Given the description of an element on the screen output the (x, y) to click on. 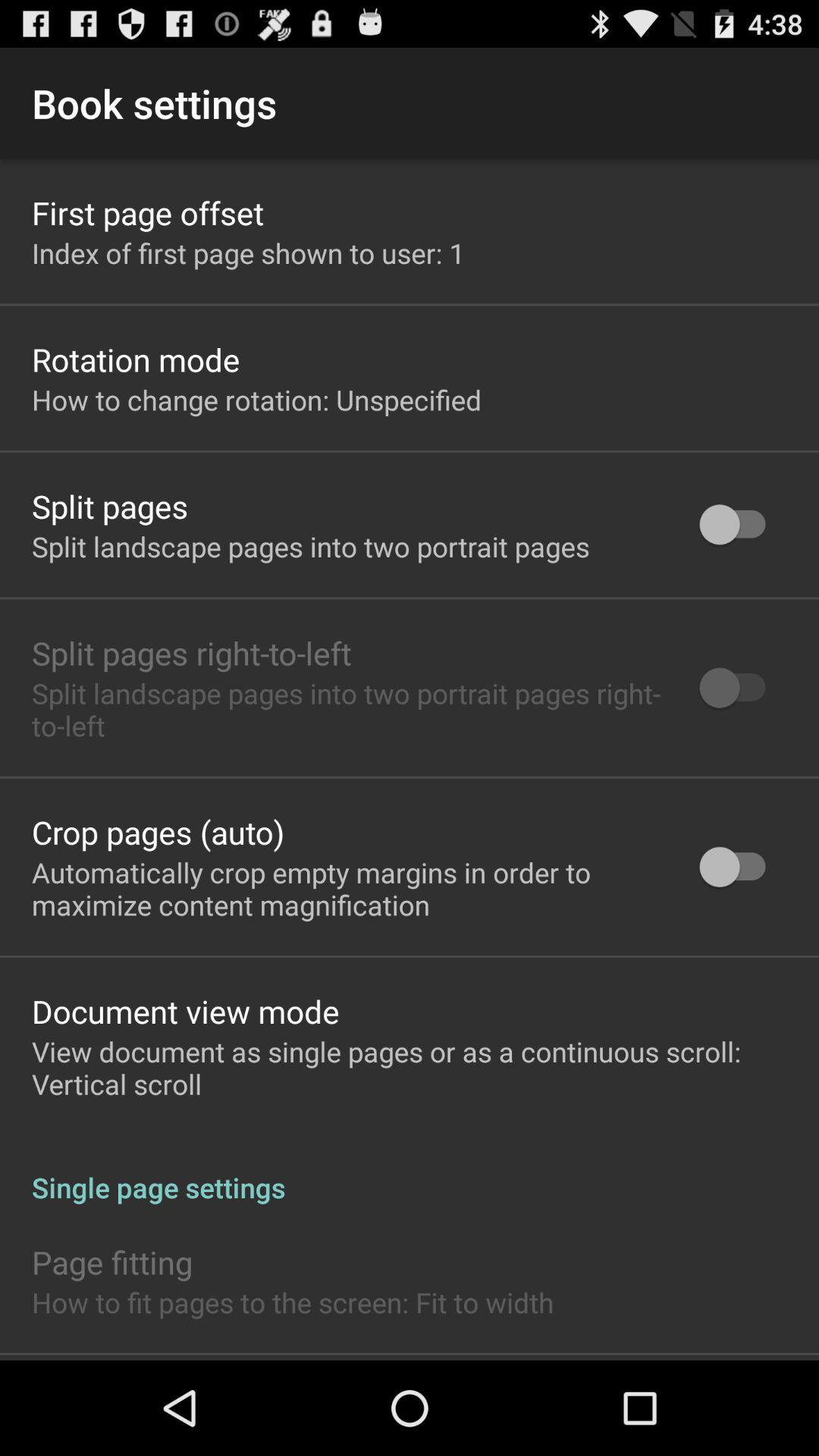
press item above the rotation mode (248, 252)
